Given the description of an element on the screen output the (x, y) to click on. 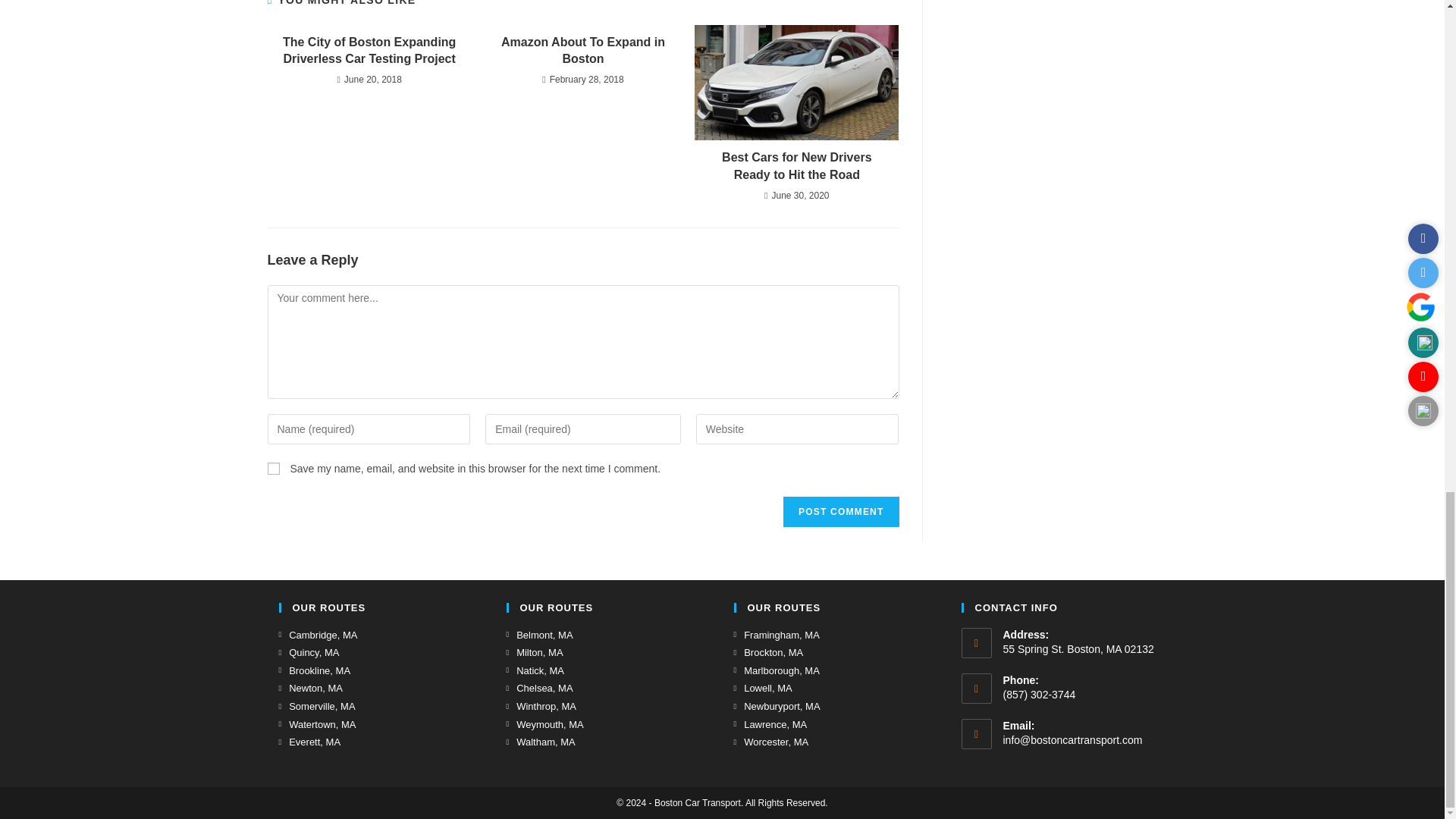
Post Comment (840, 511)
yes (272, 468)
Amazon About To Expand in Boston (582, 50)
The City of Boston Expanding Driverless Car Testing Project (368, 50)
